Given the description of an element on the screen output the (x, y) to click on. 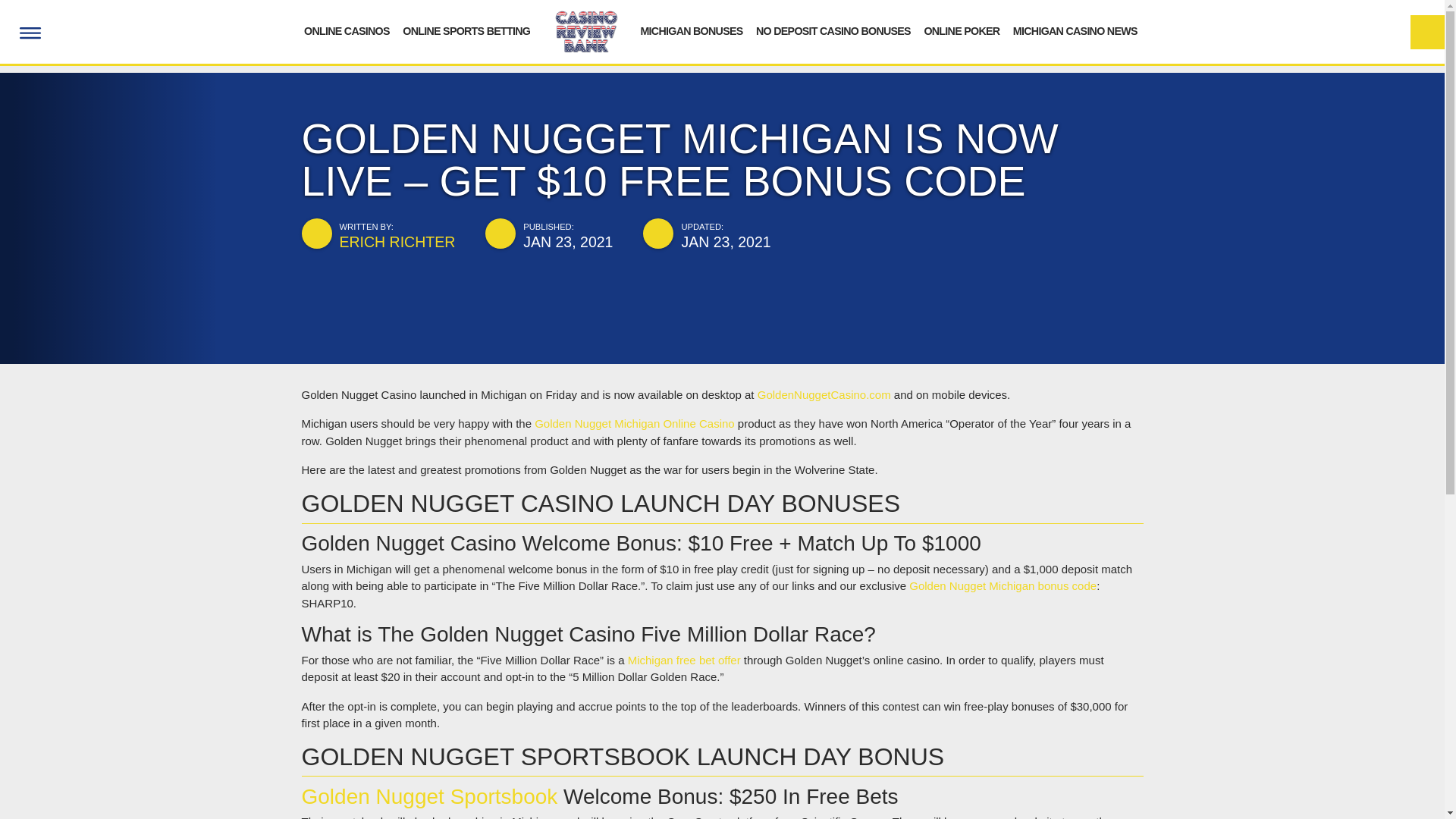
Golden Nugget Michigan bonus code (1002, 585)
ONLINE SPORTS BETTING (466, 30)
MICHIGAN BONUSES (691, 30)
Golden Nugget Michigan Online Casino (634, 422)
Golden Nugget (824, 394)
GoldenNuggetCasino.com (824, 394)
ONLINE POKER (960, 30)
ONLINE CASINOS (347, 30)
NO DEPOSIT CASINO BONUSES (833, 30)
MICHIGAN CASINO NEWS (1075, 30)
